Given the description of an element on the screen output the (x, y) to click on. 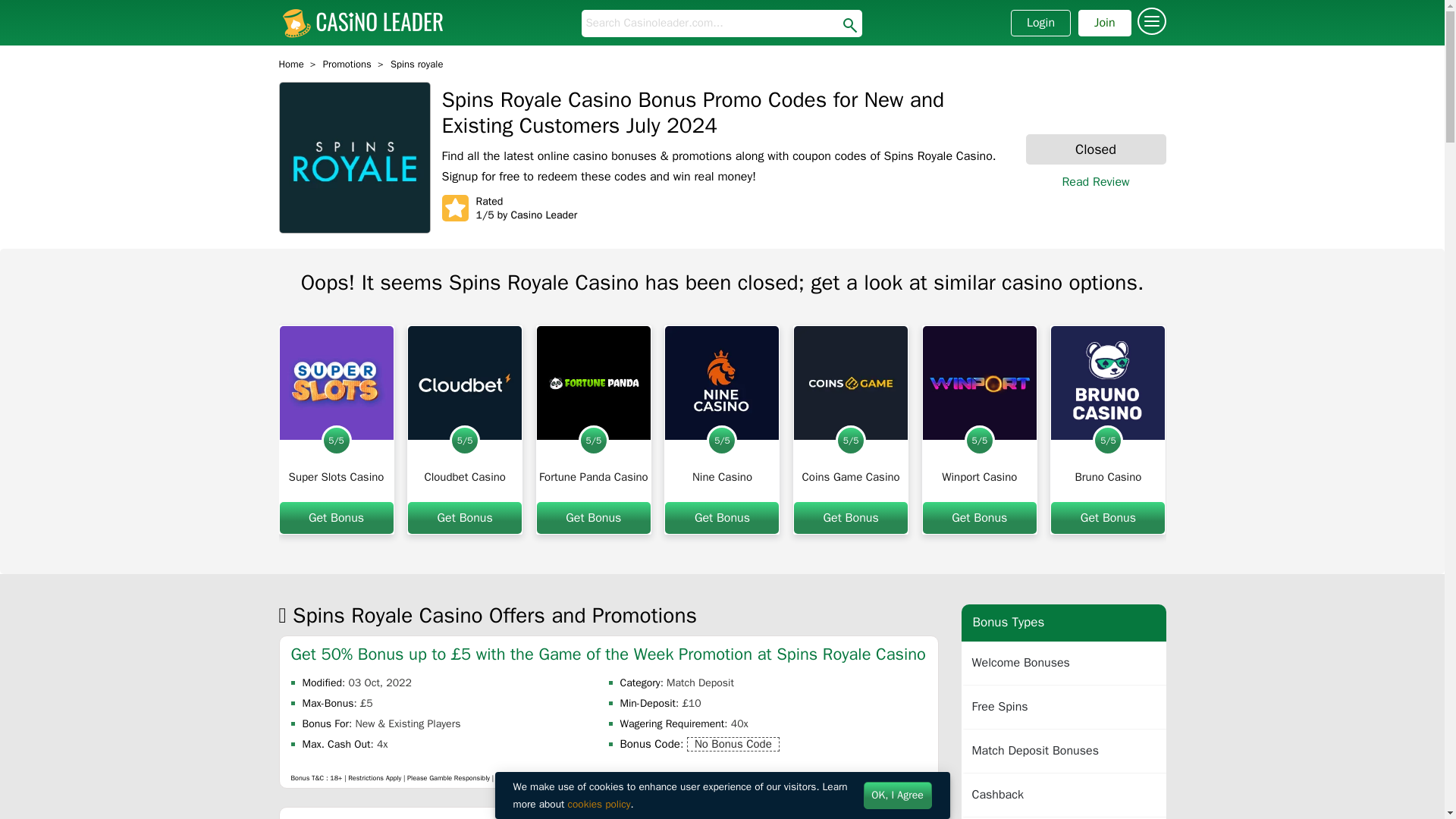
Super Slots Casino (336, 477)
Get Bonus (336, 517)
Spins Royale Casino (354, 157)
Cloudbet Casino (464, 477)
Get Bonus (721, 517)
Home (291, 63)
Login (1040, 22)
Winport Casino (979, 382)
Read Review (1095, 181)
Coins Game Casino (850, 382)
Closed (1095, 149)
Nine Casino (721, 382)
Get Bonus (464, 517)
Coins Game Casino (850, 477)
Super Slots Casino (336, 382)
